Given the description of an element on the screen output the (x, y) to click on. 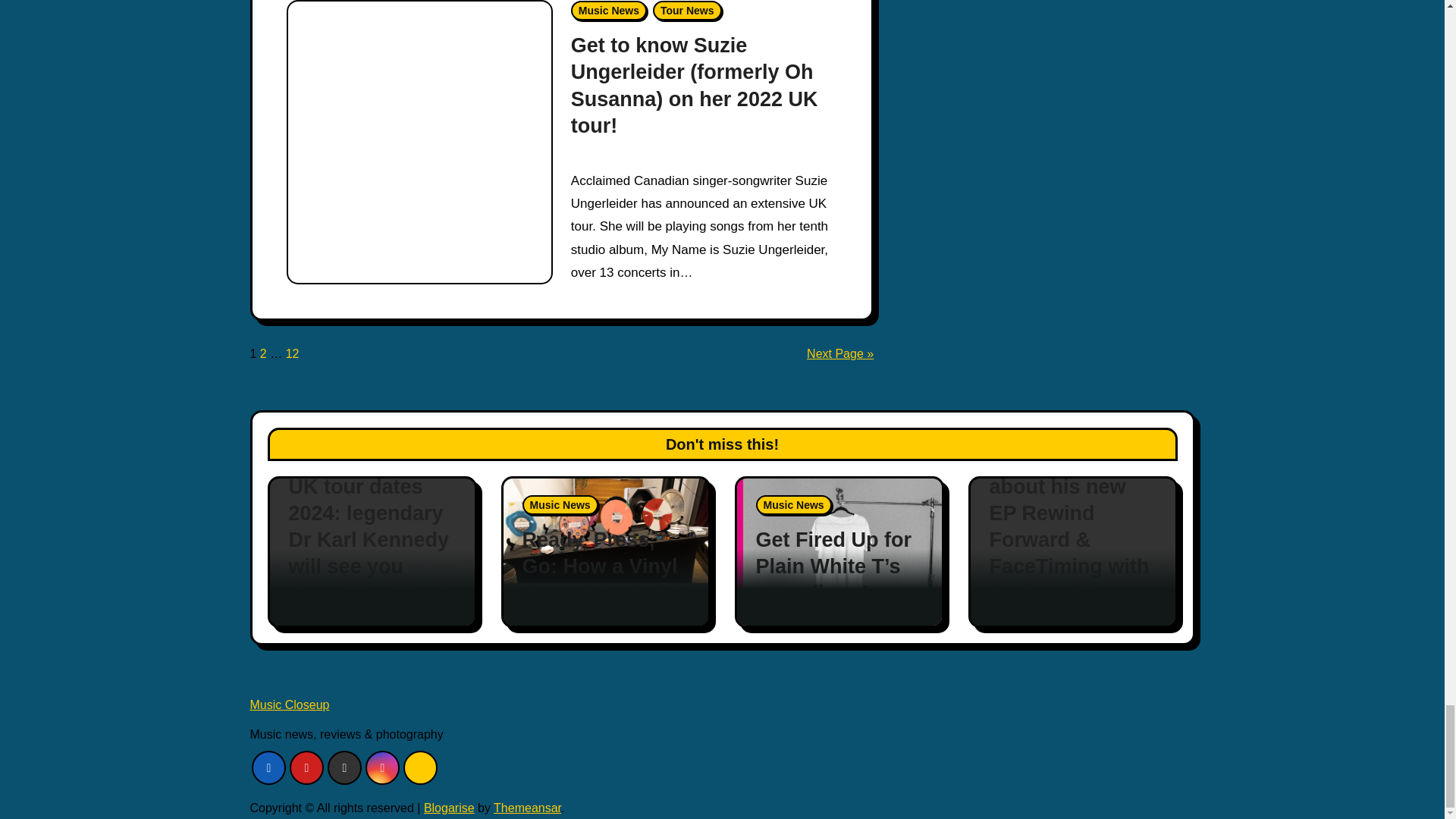
Permalink to: Ready, Press, Go: How a Vinyl Record is Made (599, 566)
